Given the description of an element on the screen output the (x, y) to click on. 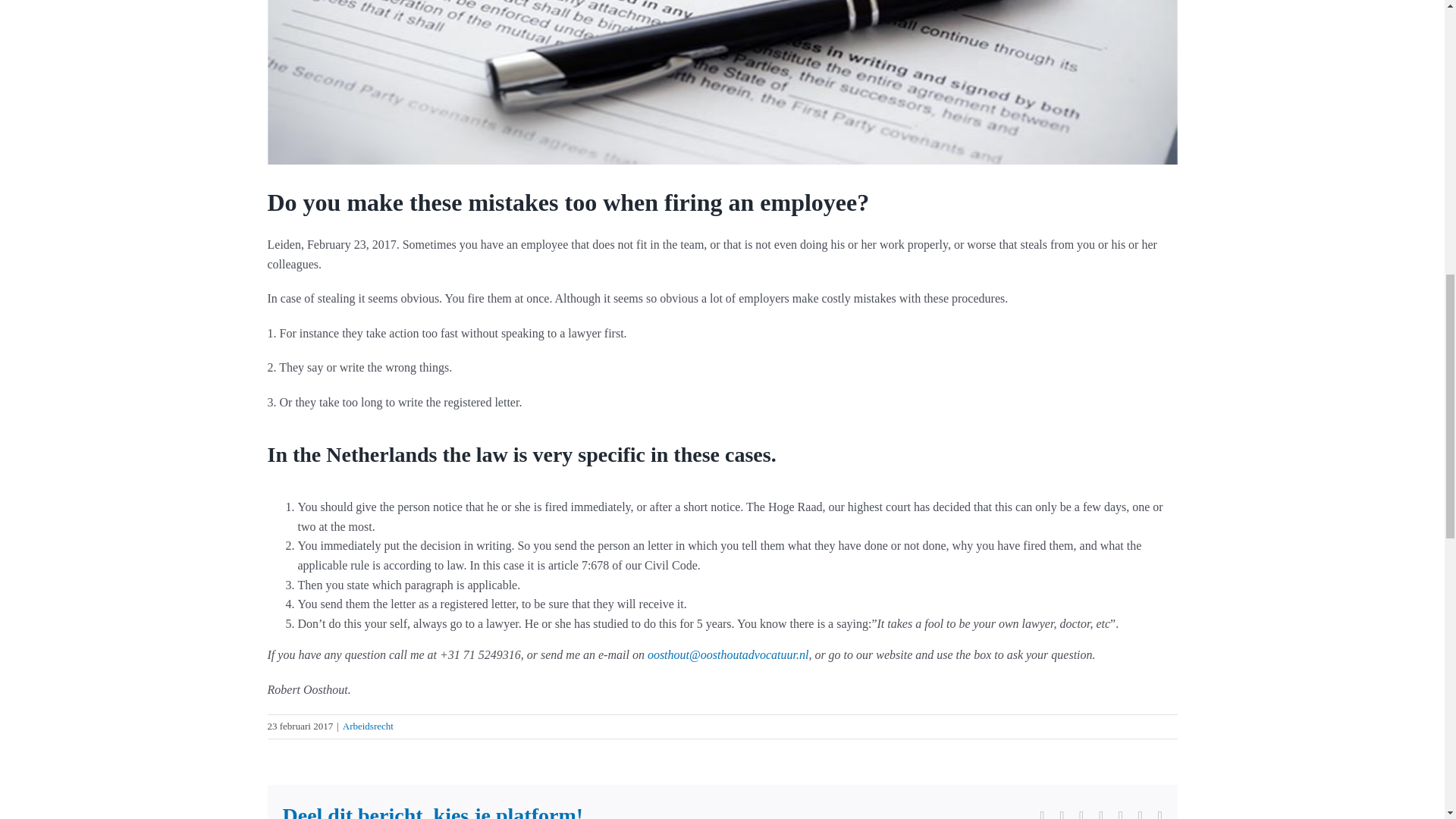
Tumblr (1120, 814)
Pinterest (1140, 814)
LinkedIn (1080, 814)
E-mail (1159, 814)
X (1061, 814)
Facebook (1043, 814)
WhatsApp (1101, 814)
